Given the description of an element on the screen output the (x, y) to click on. 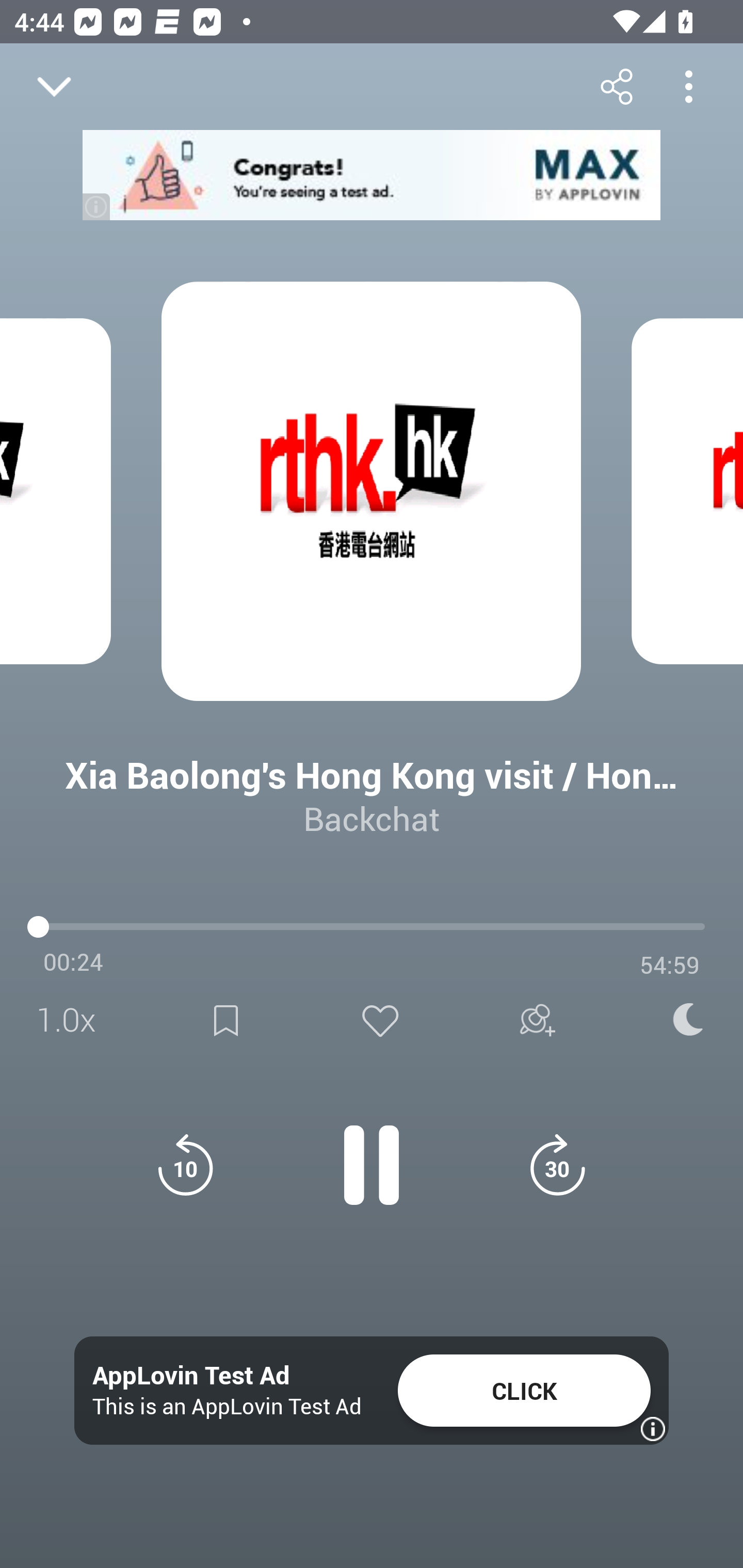
Close fullscreen player (54, 86)
Share (616, 86)
More options (688, 86)
app-monetization (371, 175)
(i) (96, 206)
Backchat (371, 818)
54:59 (669, 964)
1.0x Speed (72, 1020)
Like (380, 1020)
Pause button (371, 1153)
Jump back (185, 1164)
Jump forward (557, 1164)
CLICK (523, 1390)
AppLovin Test Ad (191, 1375)
This is an AppLovin Test Ad (226, 1406)
